Given the description of an element on the screen output the (x, y) to click on. 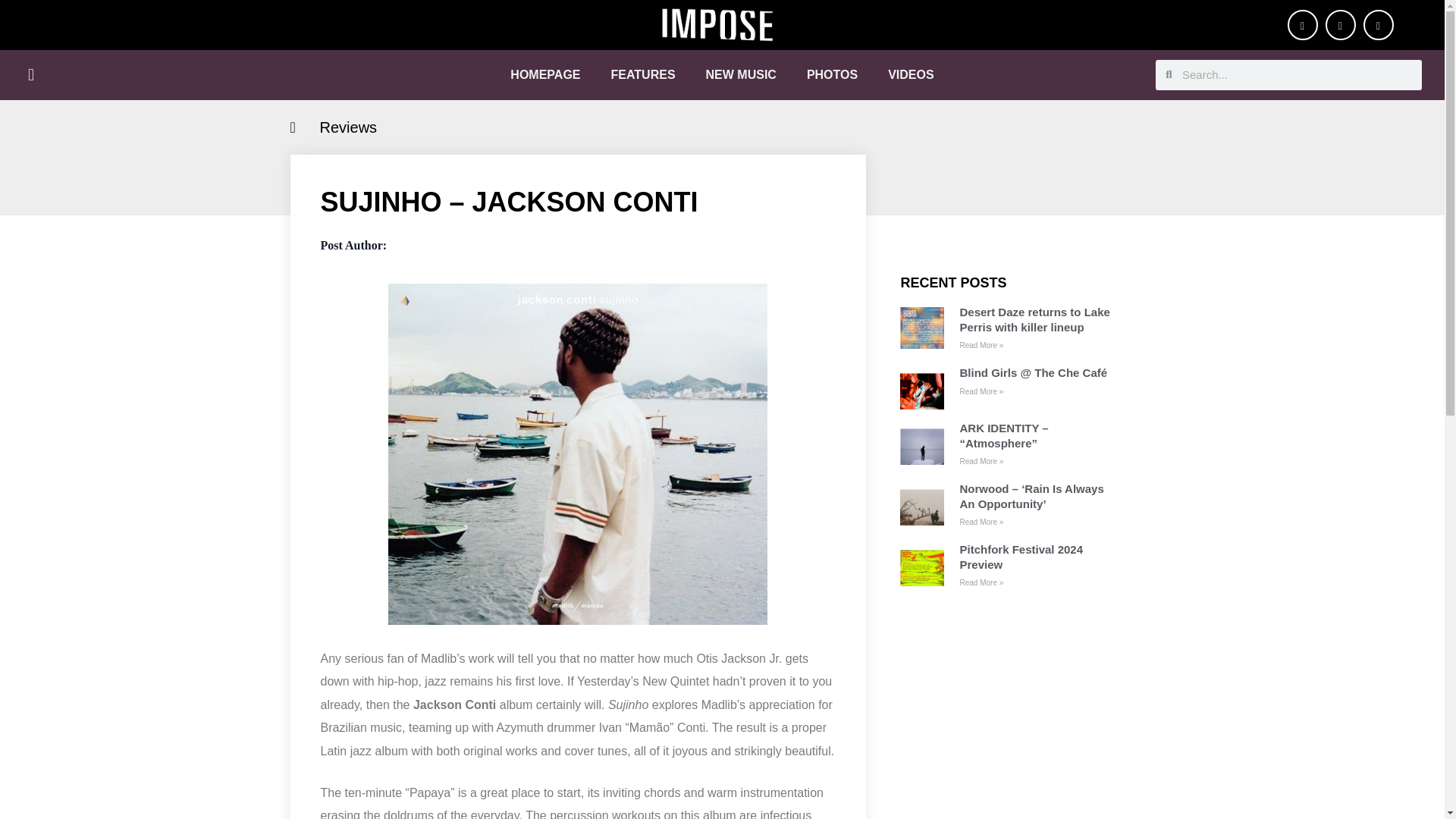
Desert Daze returns to Lake Perris with killer lineup (1039, 319)
VIDEOS (910, 74)
NEW MUSIC (741, 74)
FEATURES (642, 74)
PHOTOS (832, 74)
HOMEPAGE (545, 74)
Reviews (348, 126)
